Given the description of an element on the screen output the (x, y) to click on. 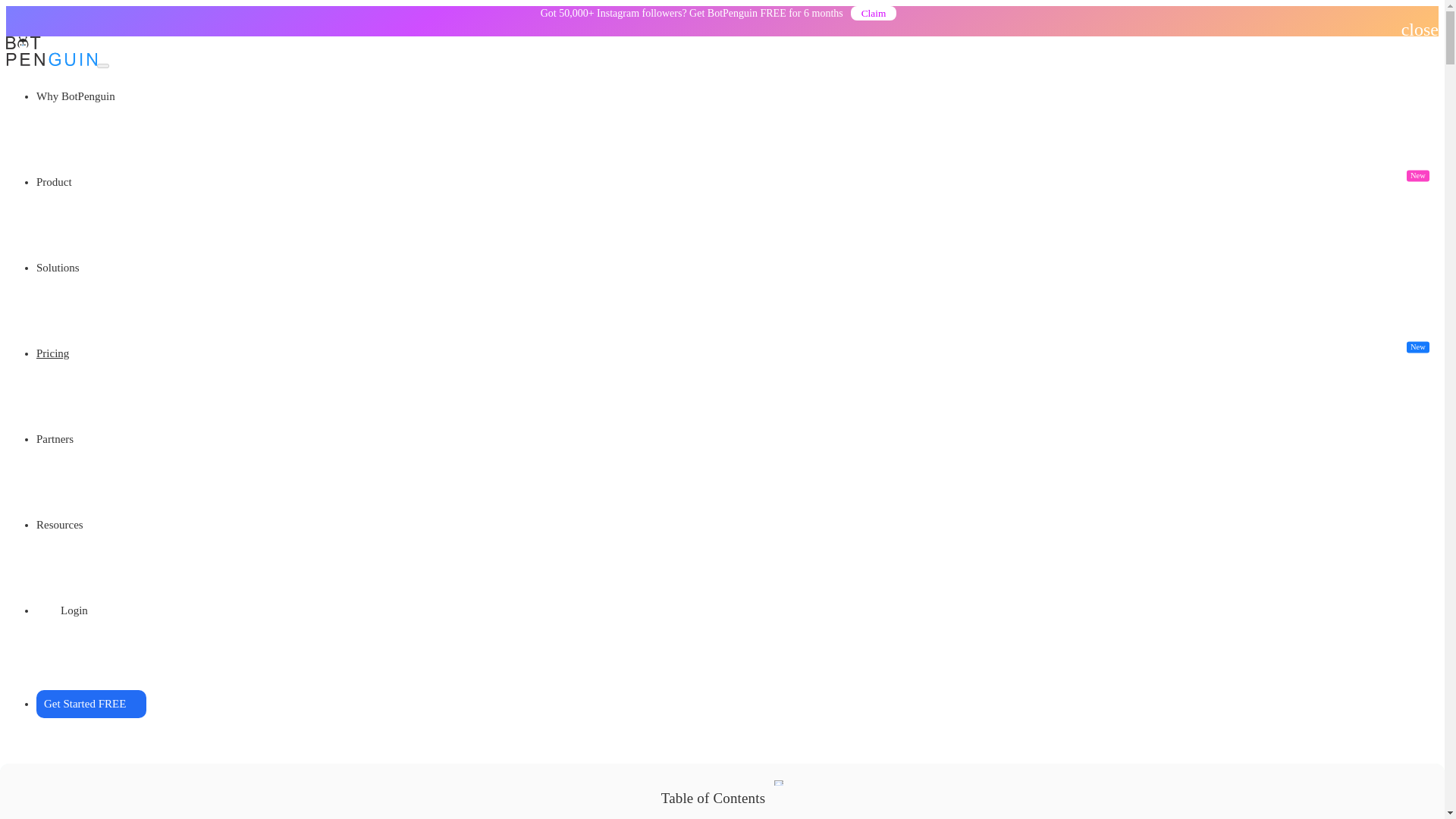
Home (50, 119)
Blogs (57, 132)
Claim (874, 13)
